Given the description of an element on the screen output the (x, y) to click on. 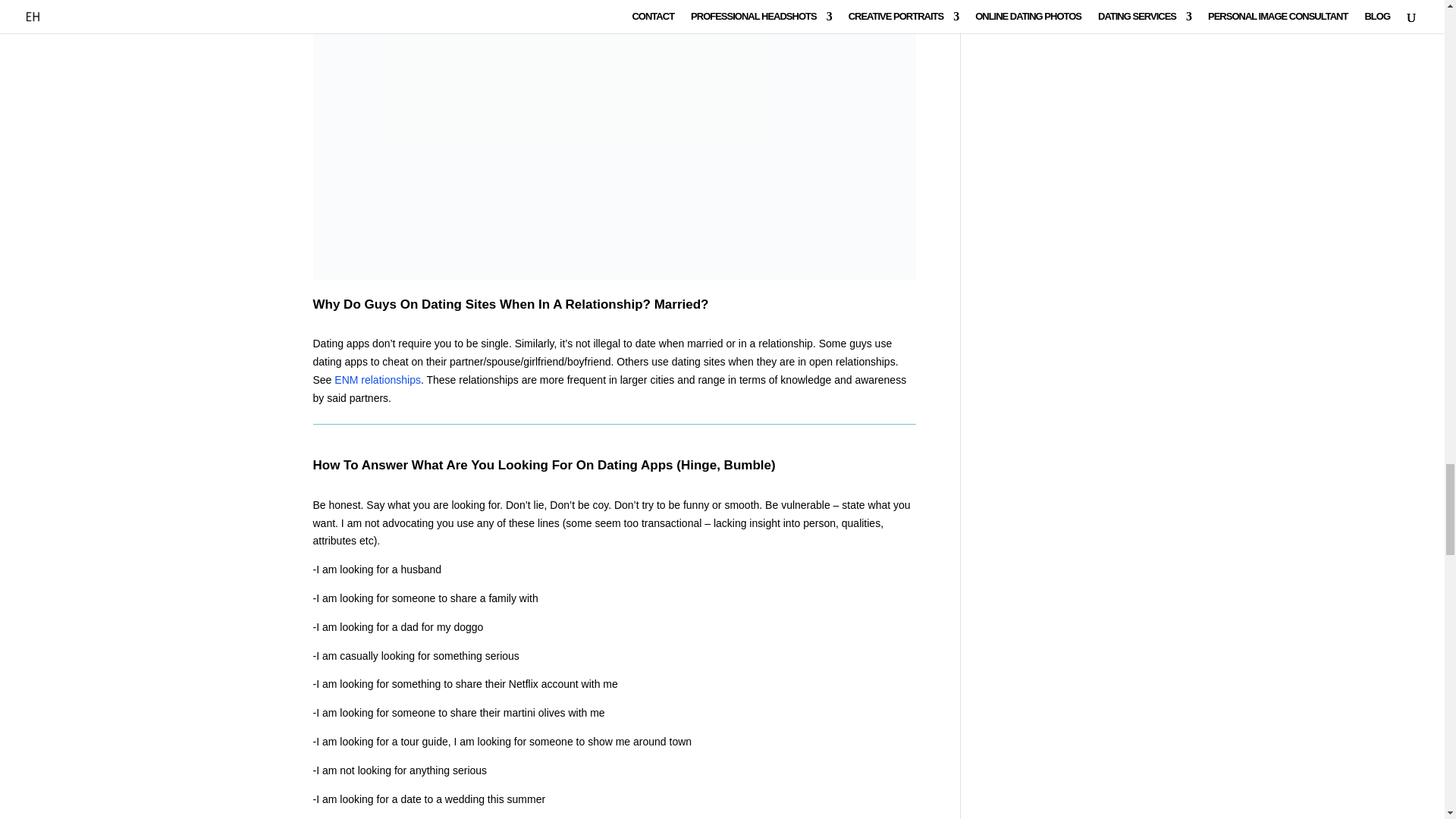
ENM relationships (377, 379)
